Given the description of an element on the screen output the (x, y) to click on. 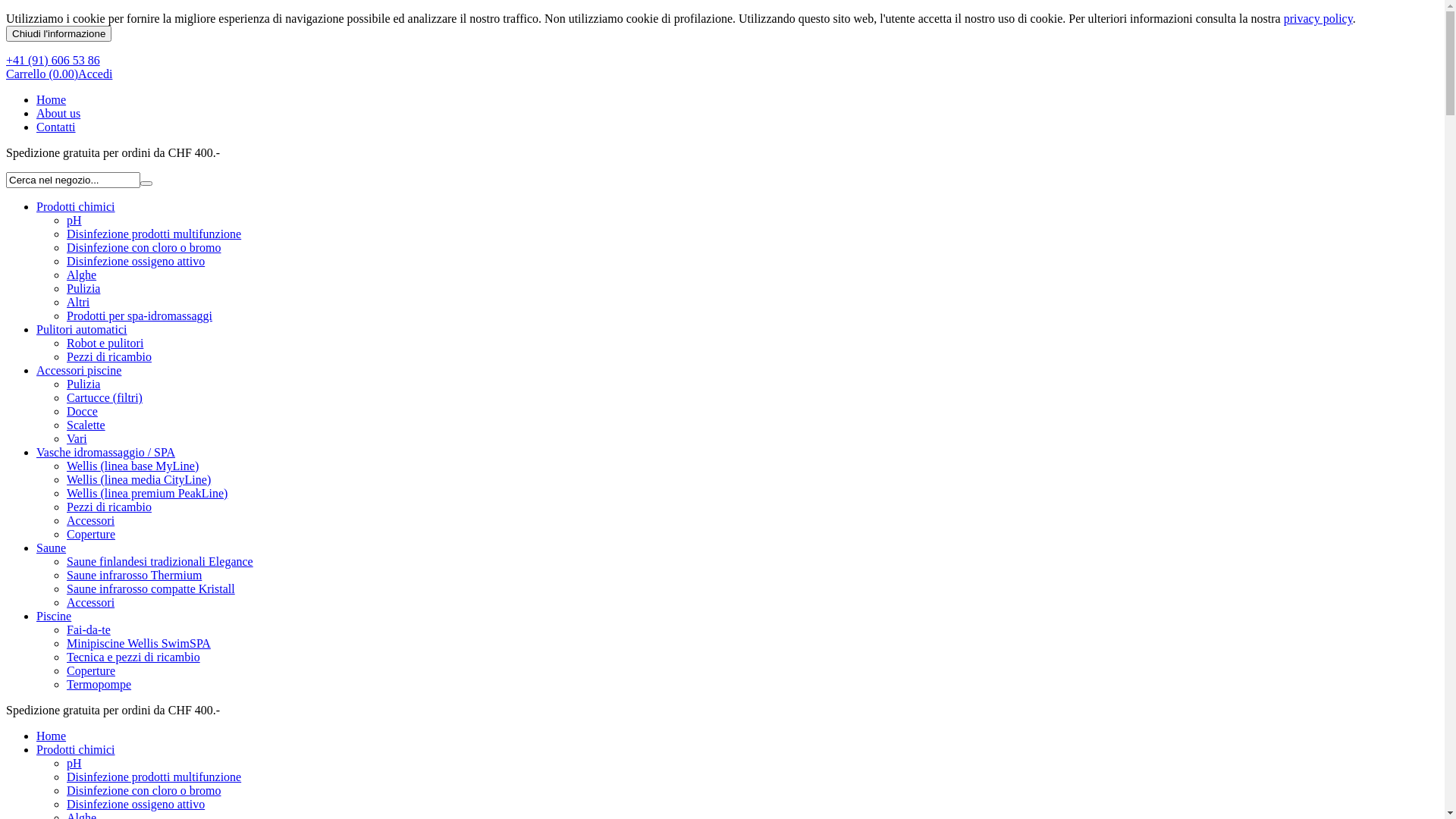
Fai-da-te Element type: text (88, 629)
Scalette Element type: text (85, 424)
pH Element type: text (73, 762)
Disinfezione prodotti multifunzione Element type: text (153, 776)
Pulitori automatici Element type: text (81, 329)
Disinfezione ossigeno attivo Element type: text (135, 803)
Vari Element type: text (76, 438)
+41 (91) 606 53 86 Element type: text (53, 59)
Pezzi di ricambio Element type: text (108, 356)
Coperture Element type: text (90, 533)
Vasche idromassaggio / SPA Element type: text (105, 451)
Saune infrarosso compatte Kristall Element type: text (150, 588)
Saune finlandesi tradizionali Elegance Element type: text (159, 561)
Wellis (linea media CityLine) Element type: text (138, 479)
Accedi Element type: text (95, 73)
Prodotti chimici Element type: text (75, 749)
Accessori Element type: text (90, 520)
Disinfezione ossigeno attivo Element type: text (135, 260)
Pulizia Element type: text (83, 288)
Home Element type: text (50, 99)
Prodotti chimici Element type: text (75, 206)
Docce Element type: text (81, 410)
Minipiscine Wellis SwimSPA Element type: text (138, 643)
Accessori piscine Element type: text (78, 370)
pH Element type: text (73, 219)
Tecnica e pezzi di ricambio Element type: text (133, 656)
Altri Element type: text (77, 301)
Disinfezione con cloro o bromo Element type: text (143, 247)
Pulizia Element type: text (83, 383)
Accessori Element type: text (90, 602)
Coperture Element type: text (90, 670)
Cerca Element type: hover (146, 183)
Chiudi l'informazione Element type: text (58, 33)
Prodotti per spa-idromassaggi Element type: text (139, 315)
Cartucce (filtri) Element type: text (104, 397)
Piscine Element type: text (53, 615)
privacy policy Element type: text (1317, 18)
Contatti Element type: text (55, 126)
Termopompe Element type: text (98, 683)
Pezzi di ricambio Element type: text (108, 506)
Robot e pulitori Element type: text (104, 342)
Saune Element type: text (50, 547)
Saune infrarosso Thermium Element type: text (133, 574)
Alghe Element type: text (81, 274)
About us Element type: text (58, 112)
Home Element type: text (50, 735)
Wellis (linea base MyLine) Element type: text (132, 465)
Chiudi l'informazione Element type: text (58, 32)
Disinfezione prodotti multifunzione Element type: text (153, 233)
Wellis (linea premium PeakLine) Element type: text (146, 492)
Disinfezione con cloro o bromo Element type: text (143, 790)
Carrello (0.00) Element type: text (42, 73)
